Given the description of an element on the screen output the (x, y) to click on. 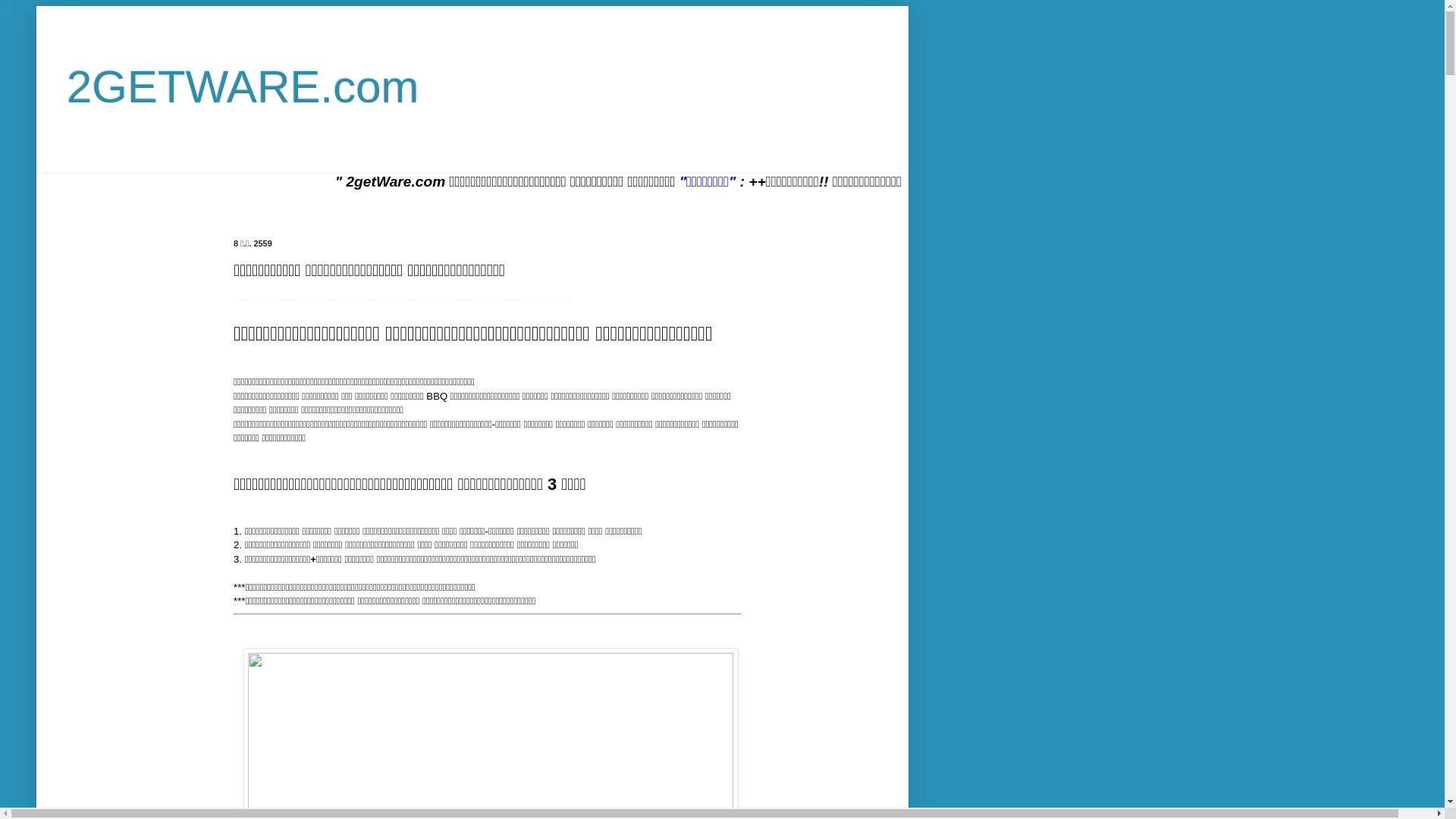
2GETWARE.com Element type: text (242, 86)
